Given the description of an element on the screen output the (x, y) to click on. 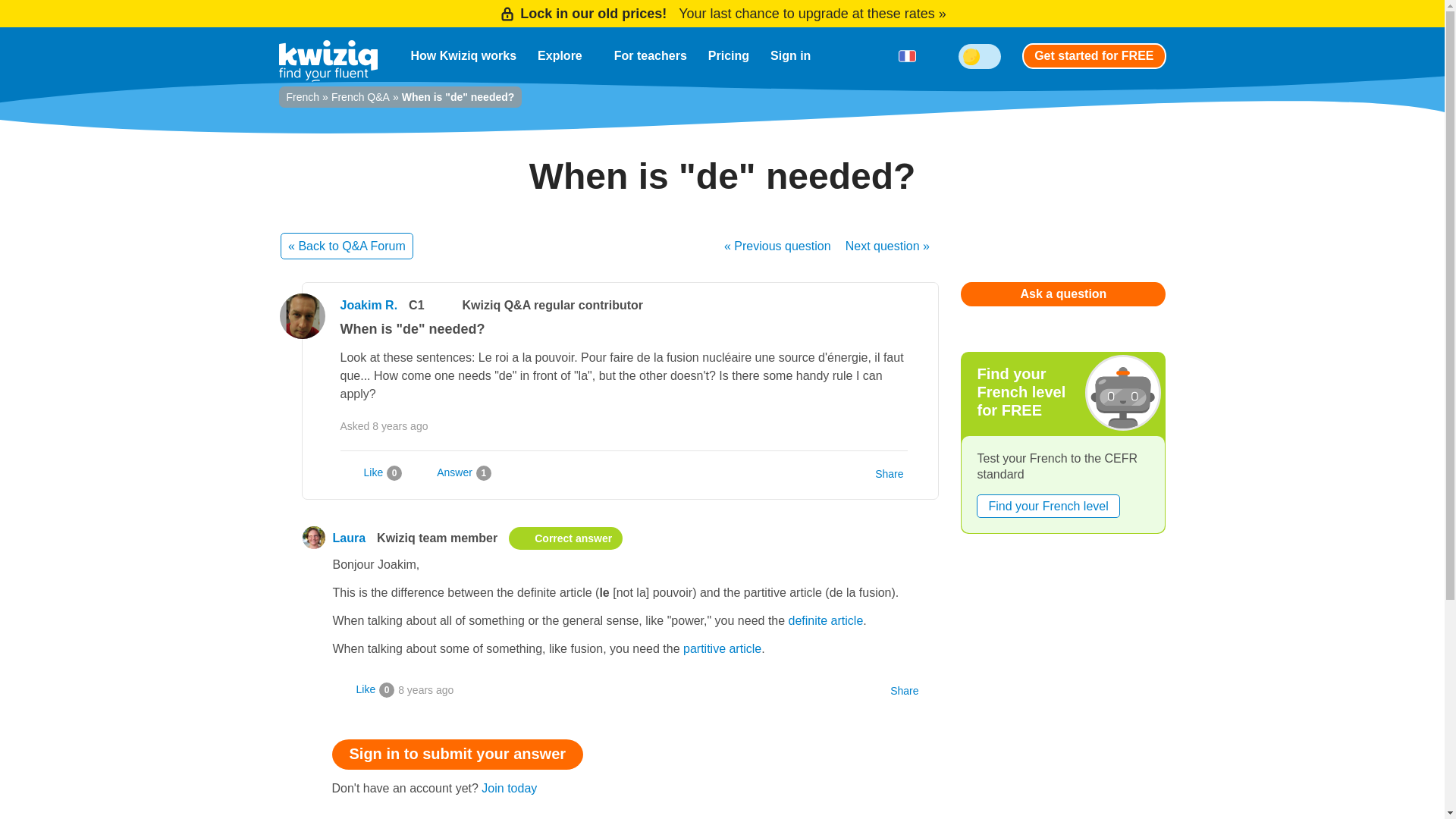
17th March 2016 (400, 426)
Sign in (790, 56)
Pricing (728, 56)
How Kwiziq works (463, 56)
Toggle Dark Mode (979, 56)
17th March 2016 (424, 689)
Explore (565, 56)
For teachers (650, 56)
